Given the description of an element on the screen output the (x, y) to click on. 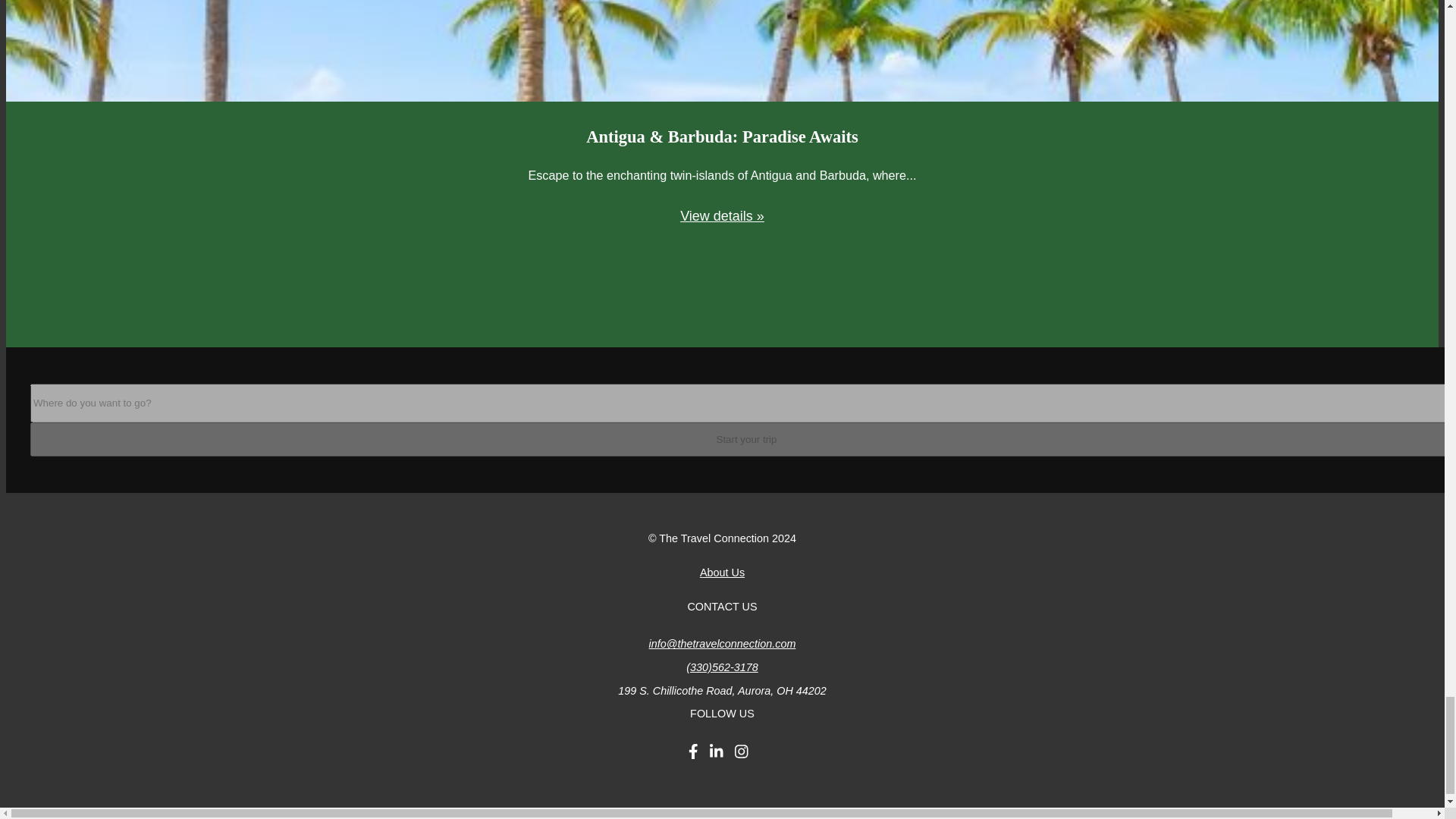
Start your trip (743, 439)
About Us (722, 572)
